Given the description of an element on the screen output the (x, y) to click on. 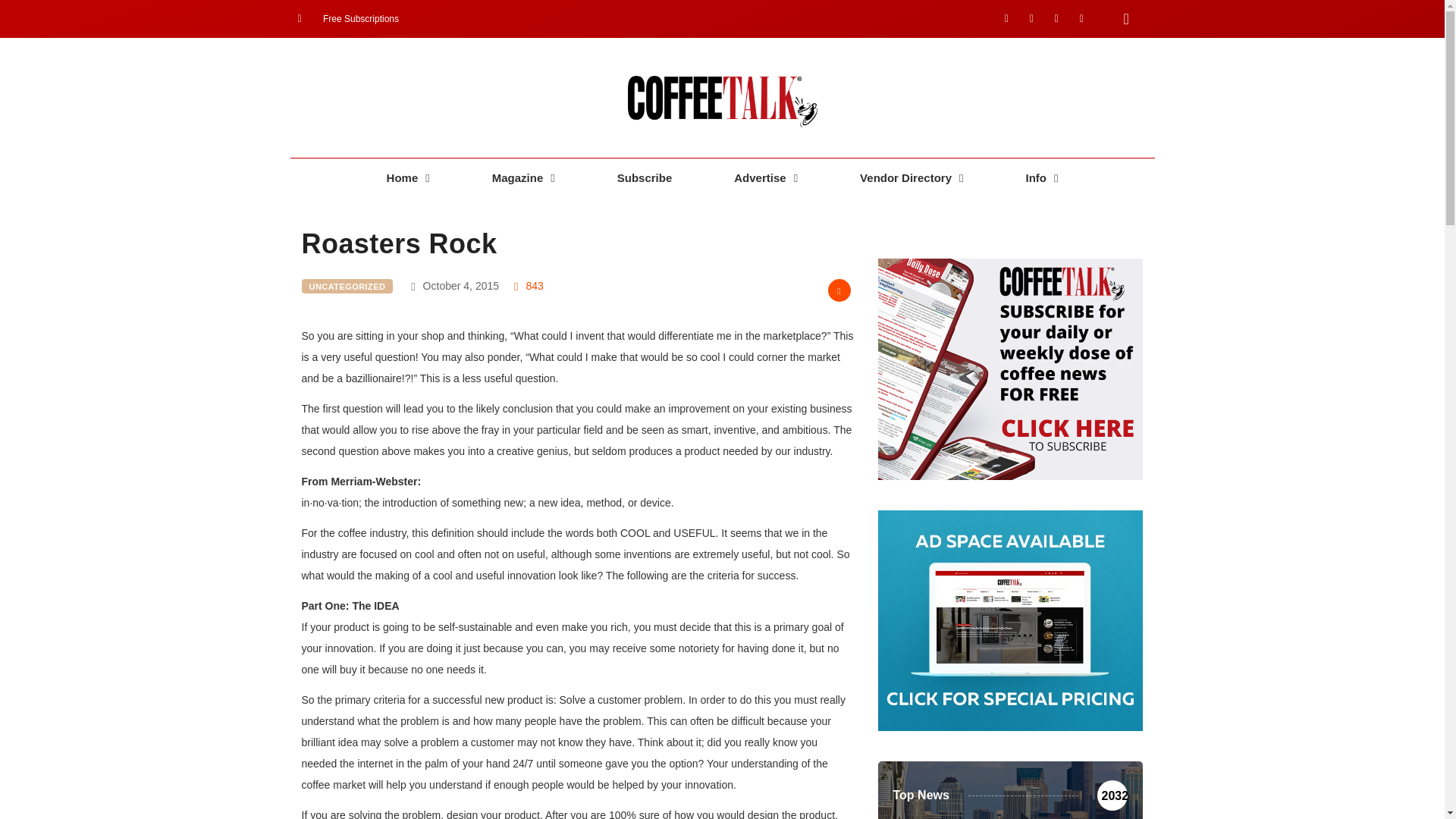
Magazine (523, 178)
Home (408, 178)
Free Subscriptions (347, 18)
